Given the description of an element on the screen output the (x, y) to click on. 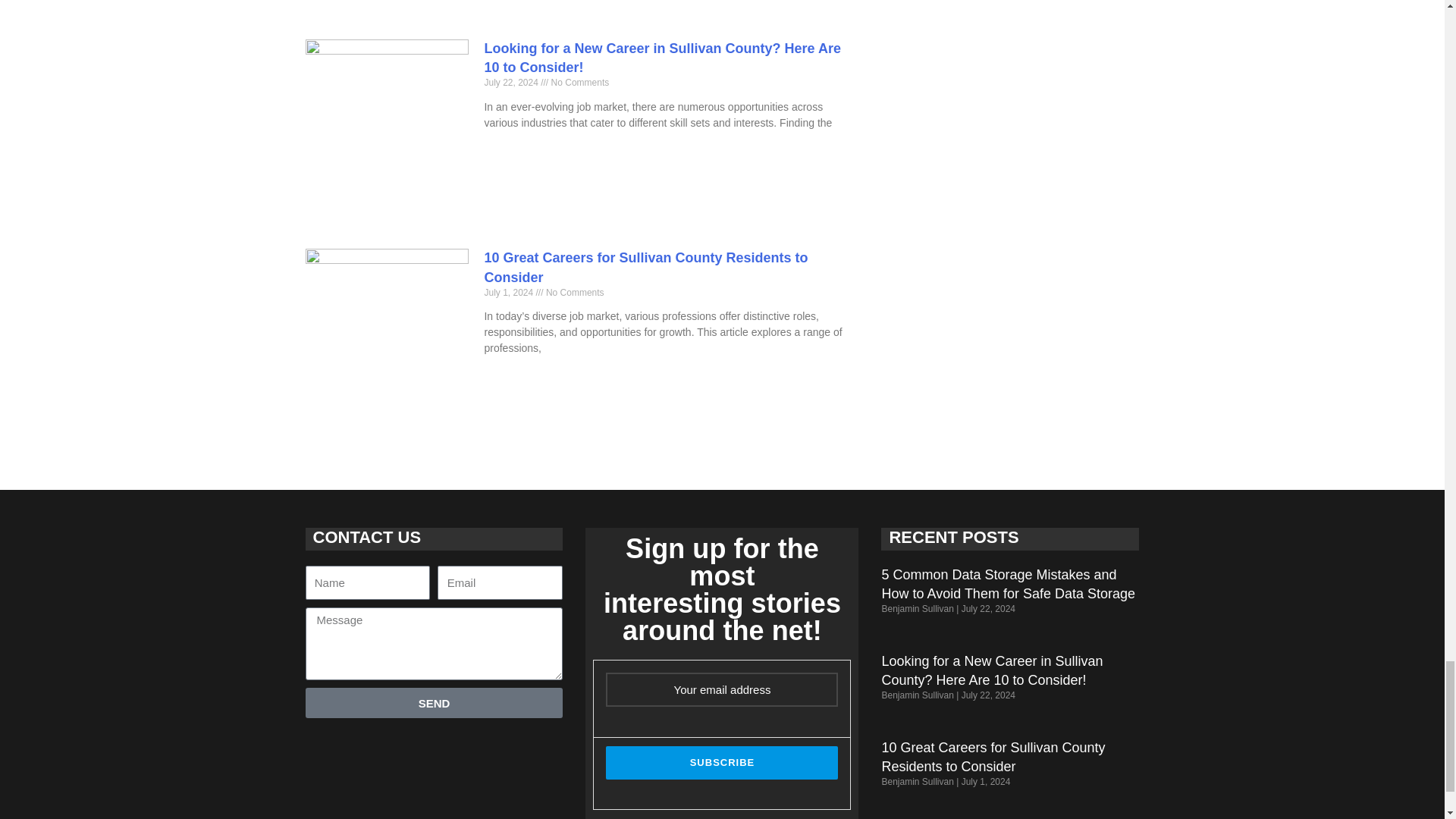
Subscribe (721, 762)
10 Great Careers for Sullivan County Residents to Consider (992, 756)
SEND (433, 702)
Subscribe (721, 762)
10 Great Careers for Sullivan County Residents to Consider (645, 267)
